Given the description of an element on the screen output the (x, y) to click on. 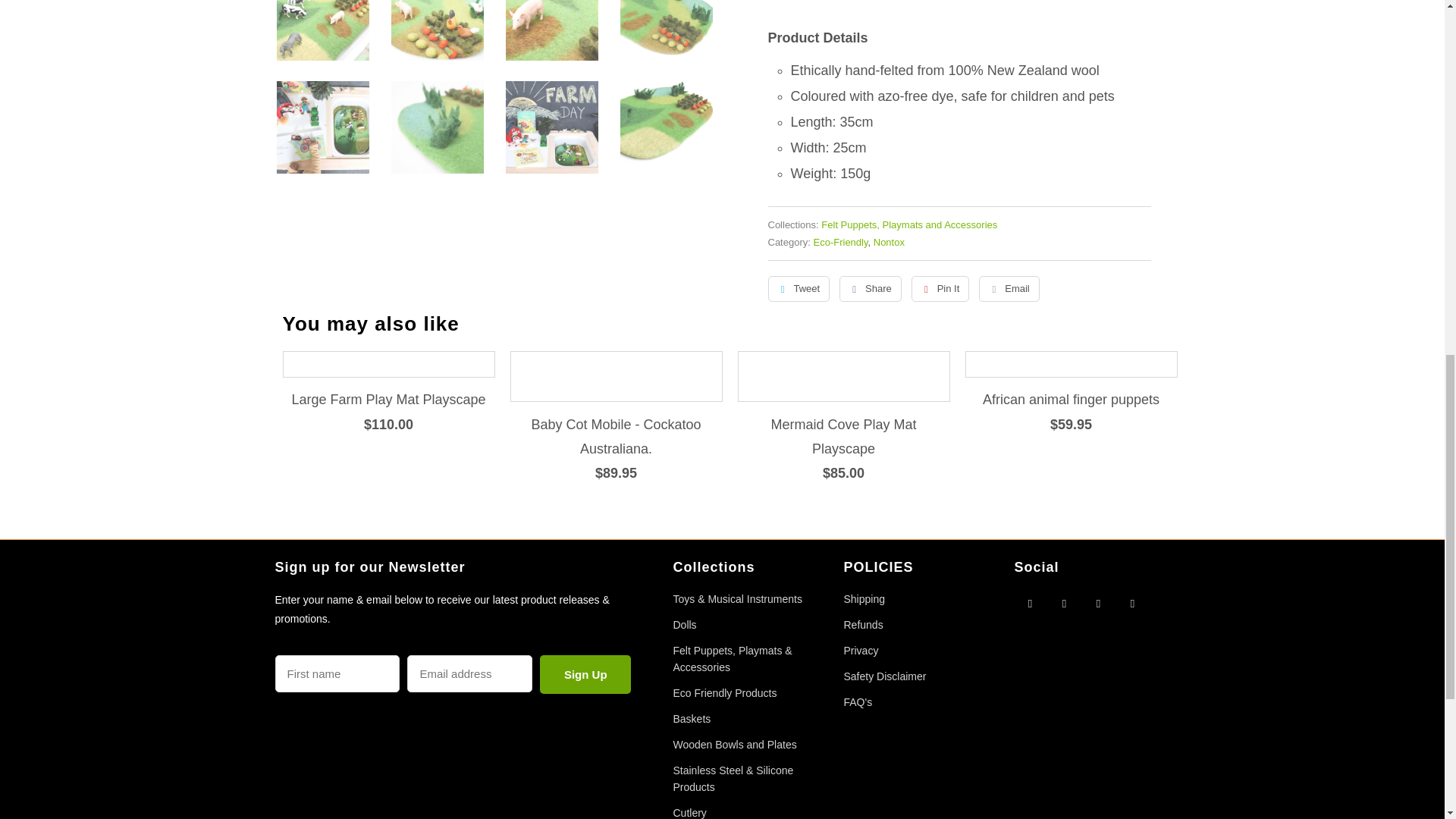
Sign Up (585, 674)
Felt Puppets, Playmats and Accessories (909, 224)
Email My Hardie (1132, 602)
Products tagged Eco-Friendly (839, 242)
Share this on Facebook (870, 289)
Email this to a friend (1008, 289)
My Hardie on Instagram (1097, 602)
Share this on Pinterest (940, 289)
My Hardie on Facebook (1029, 602)
My Hardie on Pinterest (1064, 602)
